Given the description of an element on the screen output the (x, y) to click on. 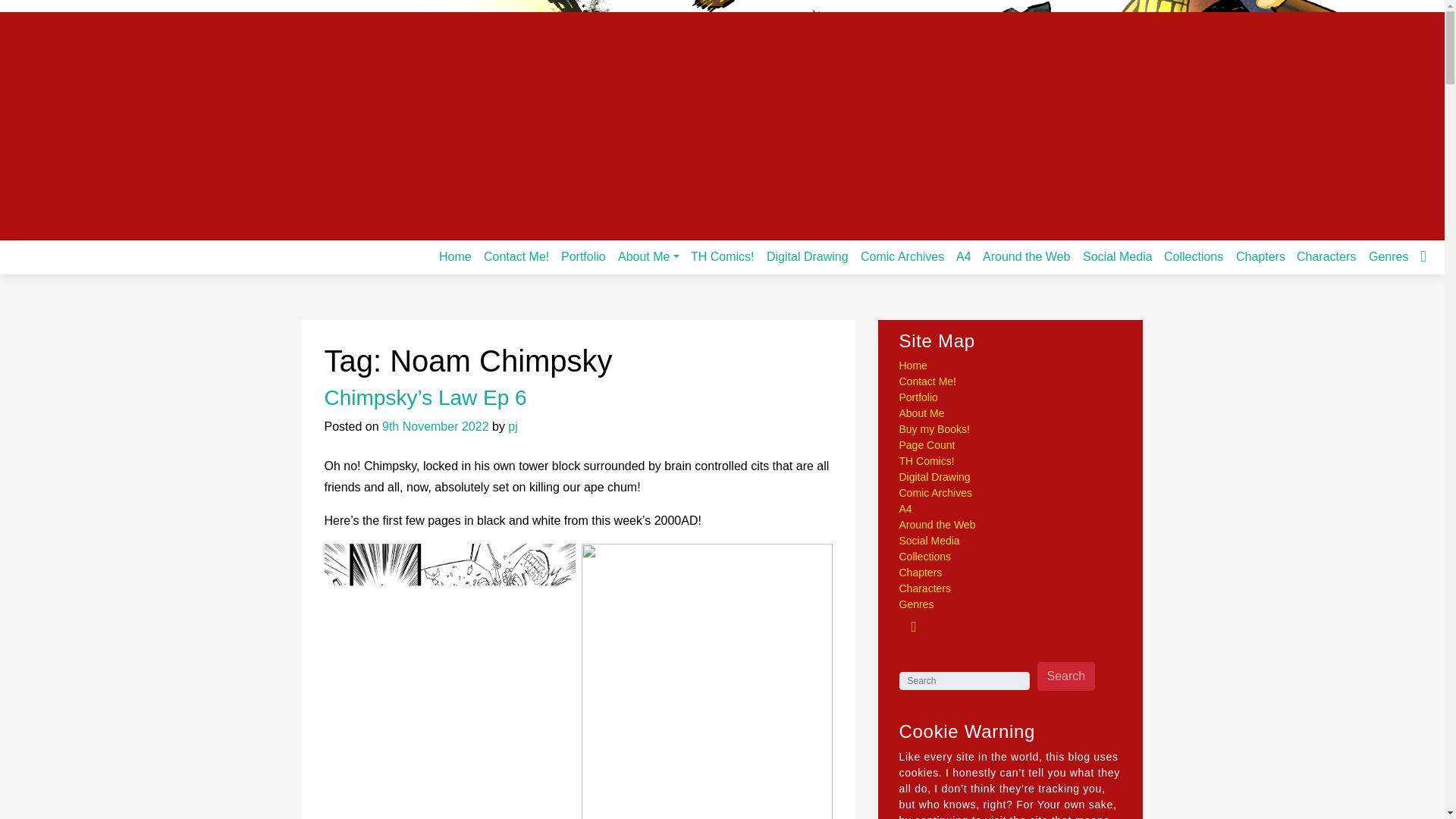
Collections (1192, 256)
Chapters (1260, 256)
Social Media (1117, 256)
Portfolio (582, 256)
About Me (648, 256)
Chapters (1260, 256)
Collections (1192, 256)
Around the Web (1025, 256)
Contact Me! (515, 256)
Digital Drawing (807, 256)
